Given the description of an element on the screen output the (x, y) to click on. 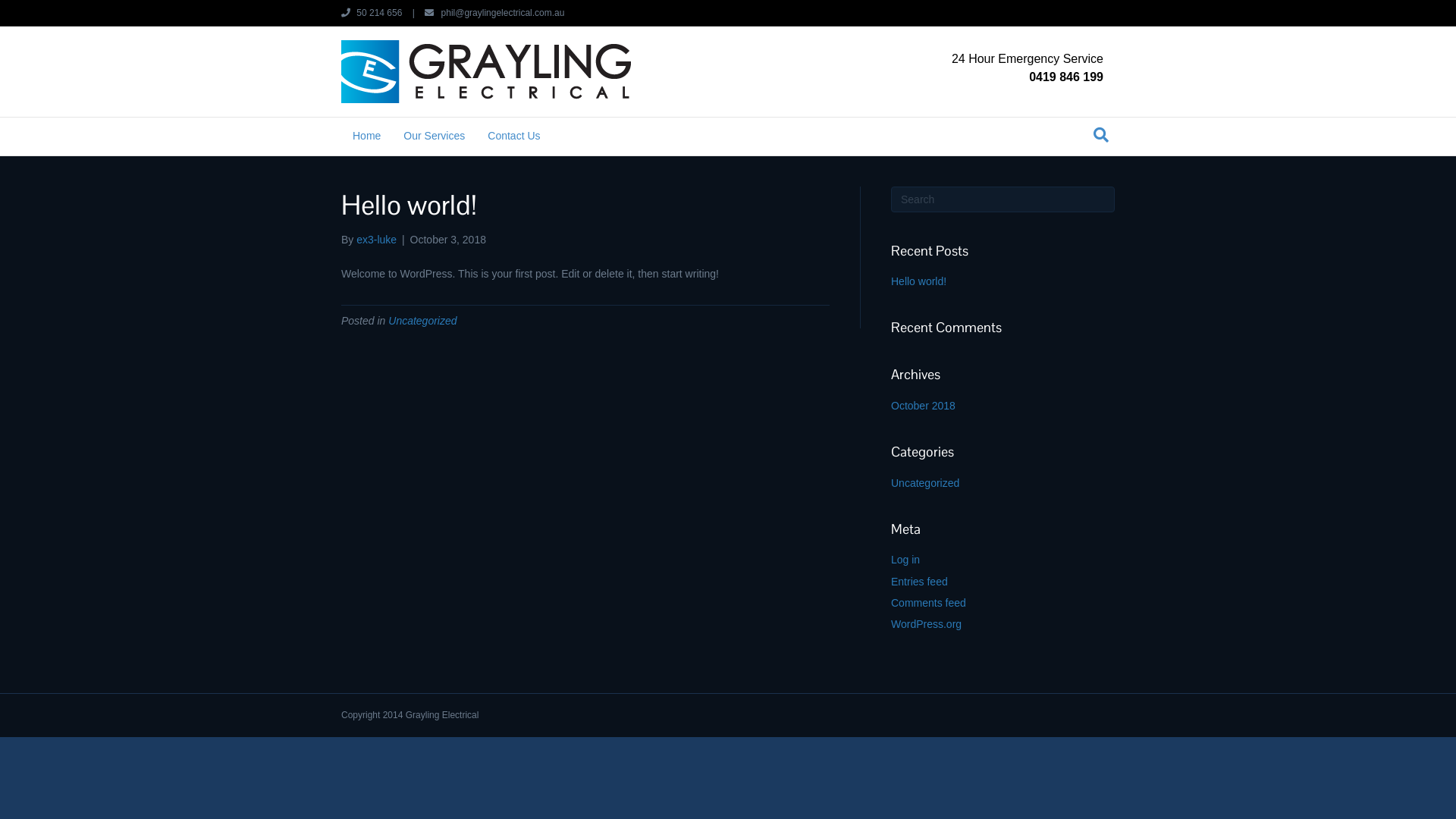
October 2018 Element type: text (923, 405)
Our Services Element type: text (434, 136)
Comments feed Element type: text (928, 602)
ex3-luke Element type: text (376, 239)
Entries feed Element type: text (919, 581)
Hello world! Element type: text (918, 281)
Home Element type: text (366, 136)
Contact Us Element type: text (513, 136)
Type and press Enter to search. Element type: hover (1002, 199)
Log in Element type: text (905, 559)
WordPress.org Element type: text (926, 624)
Uncategorized Element type: text (422, 320)
Uncategorized Element type: text (925, 482)
